Given the description of an element on the screen output the (x, y) to click on. 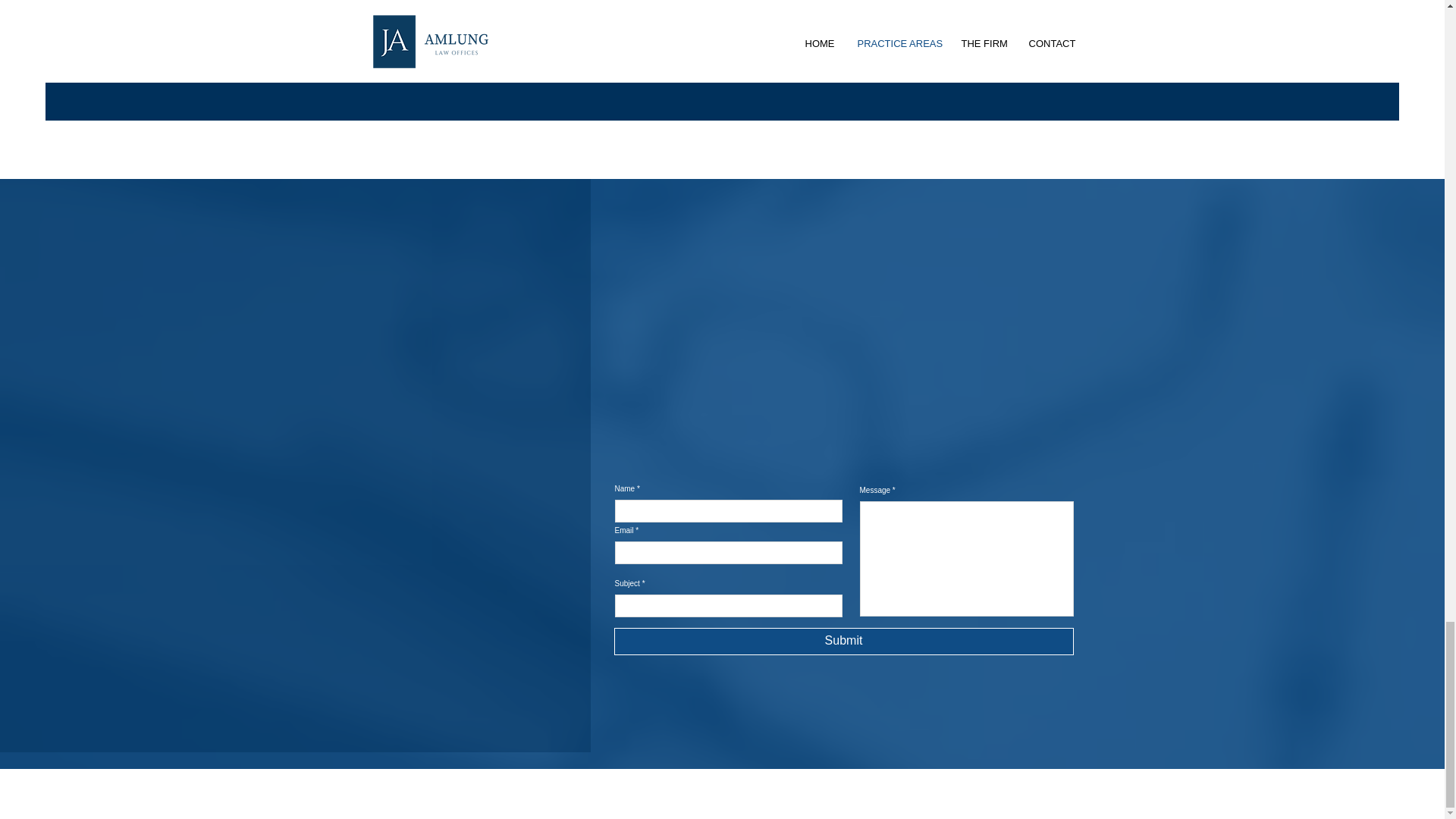
Submit (844, 641)
